Given the description of an element on the screen output the (x, y) to click on. 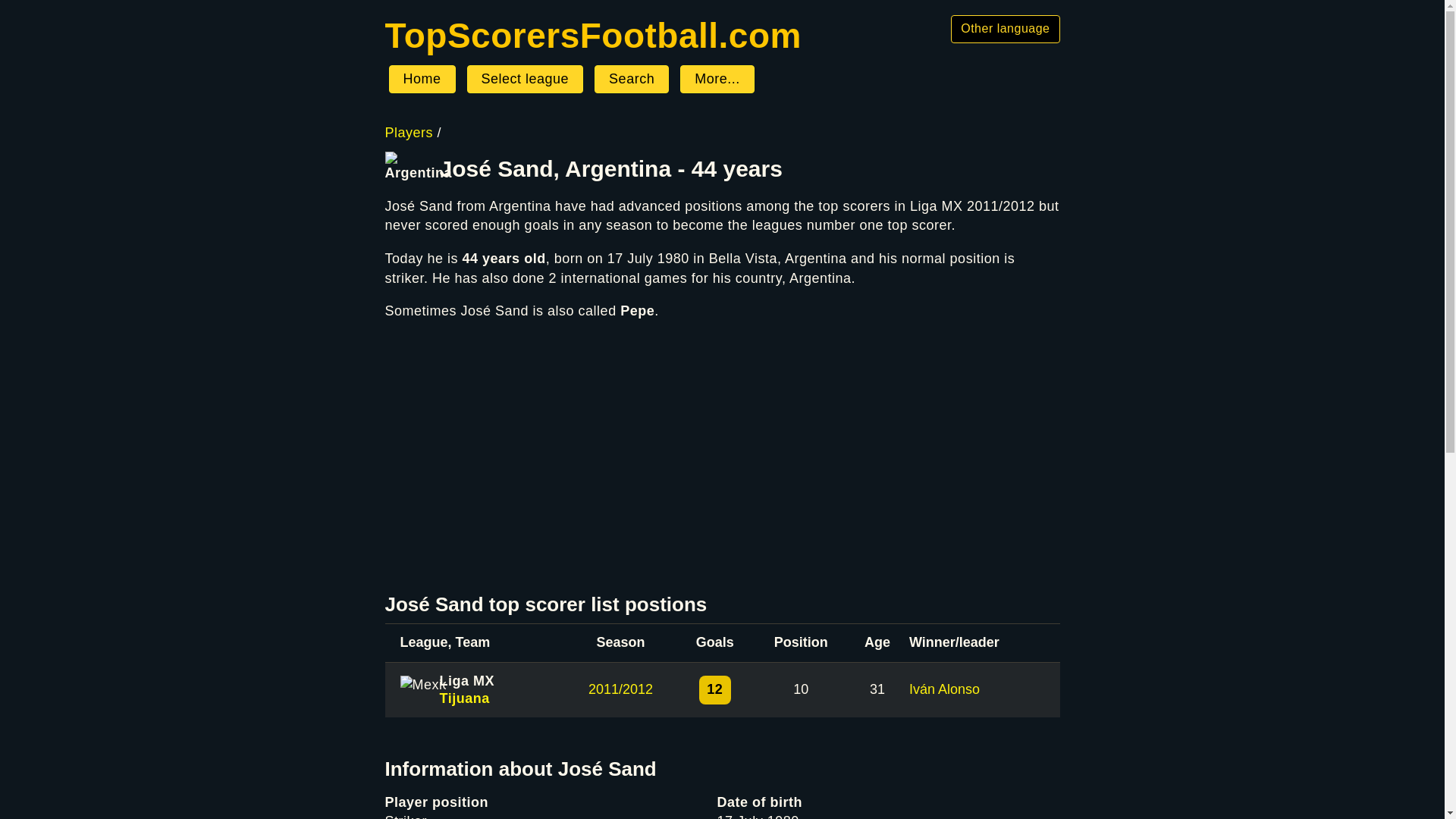
Home (421, 79)
Home (421, 79)
Search (631, 79)
TopScorersFootball.com (593, 35)
More... (716, 79)
Other language (1004, 29)
Select league (525, 79)
Other language (1004, 29)
Home (593, 35)
